Given the description of an element on the screen output the (x, y) to click on. 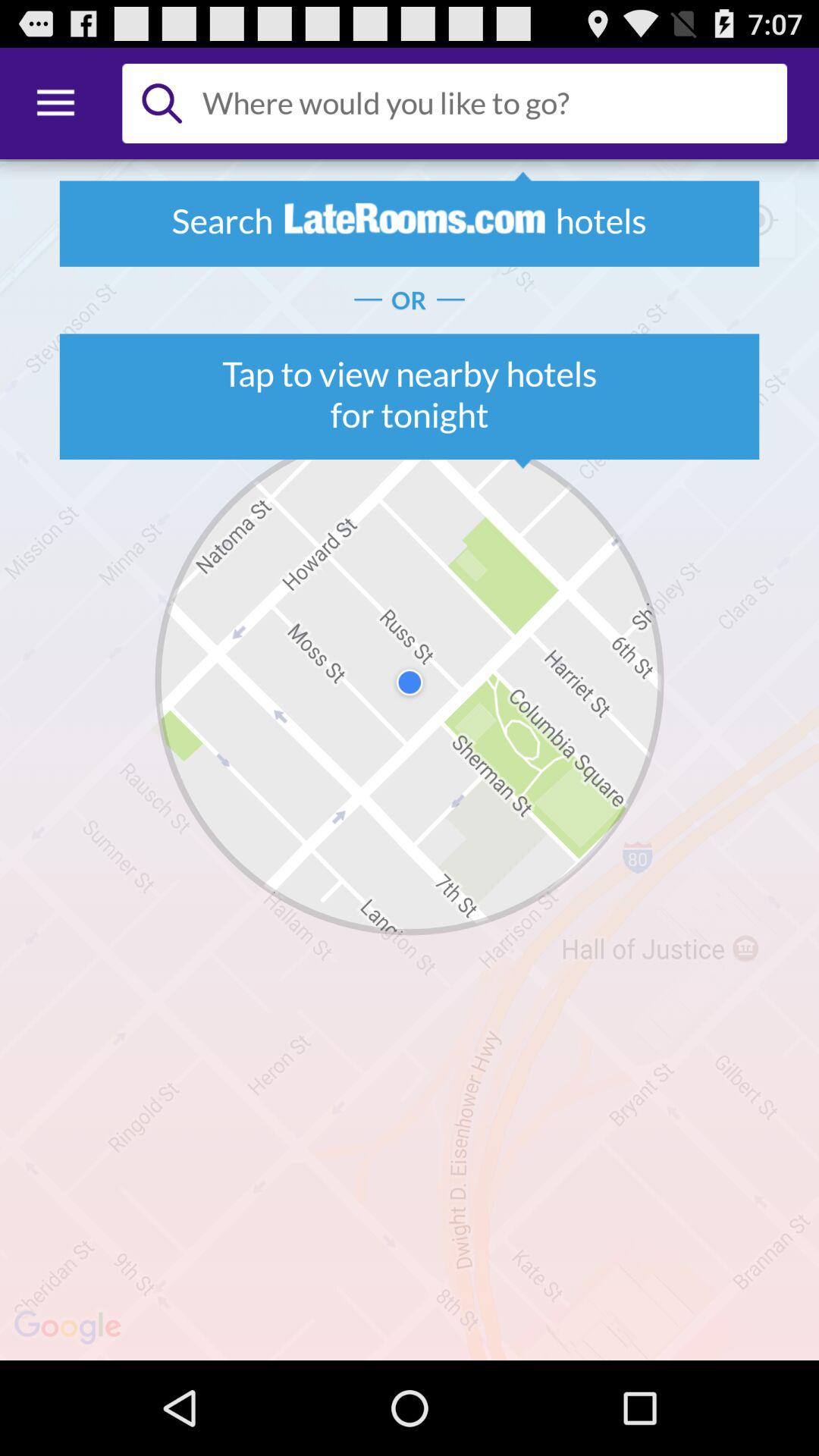
click on text field next to search button (489, 103)
